Given the description of an element on the screen output the (x, y) to click on. 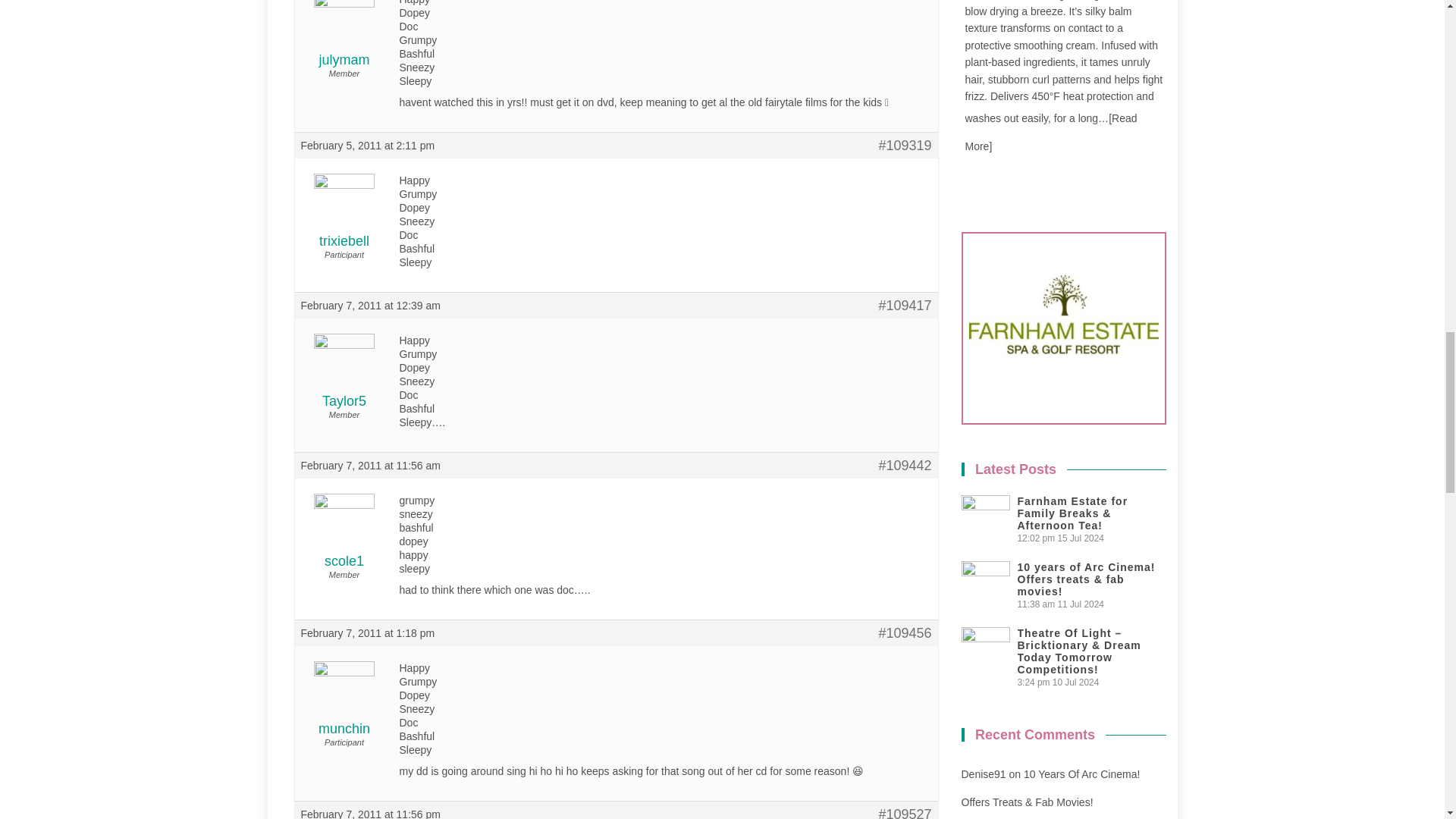
View trixiebell's profile (343, 219)
View julymam's profile (343, 37)
View Taylor5's profile (343, 379)
